Given the description of an element on the screen output the (x, y) to click on. 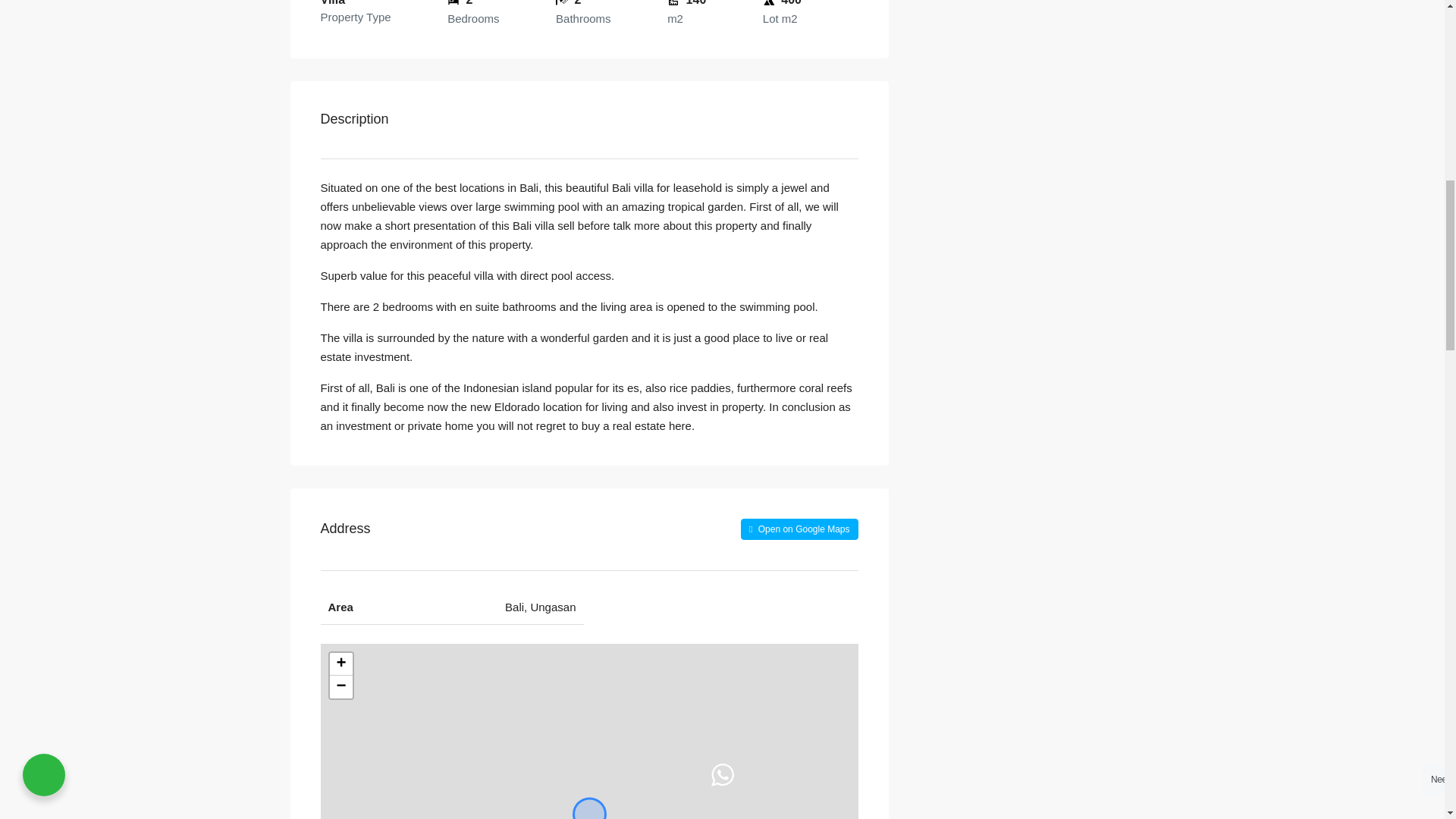
Zoom out (340, 686)
Zoom in (340, 663)
